Given the description of an element on the screen output the (x, y) to click on. 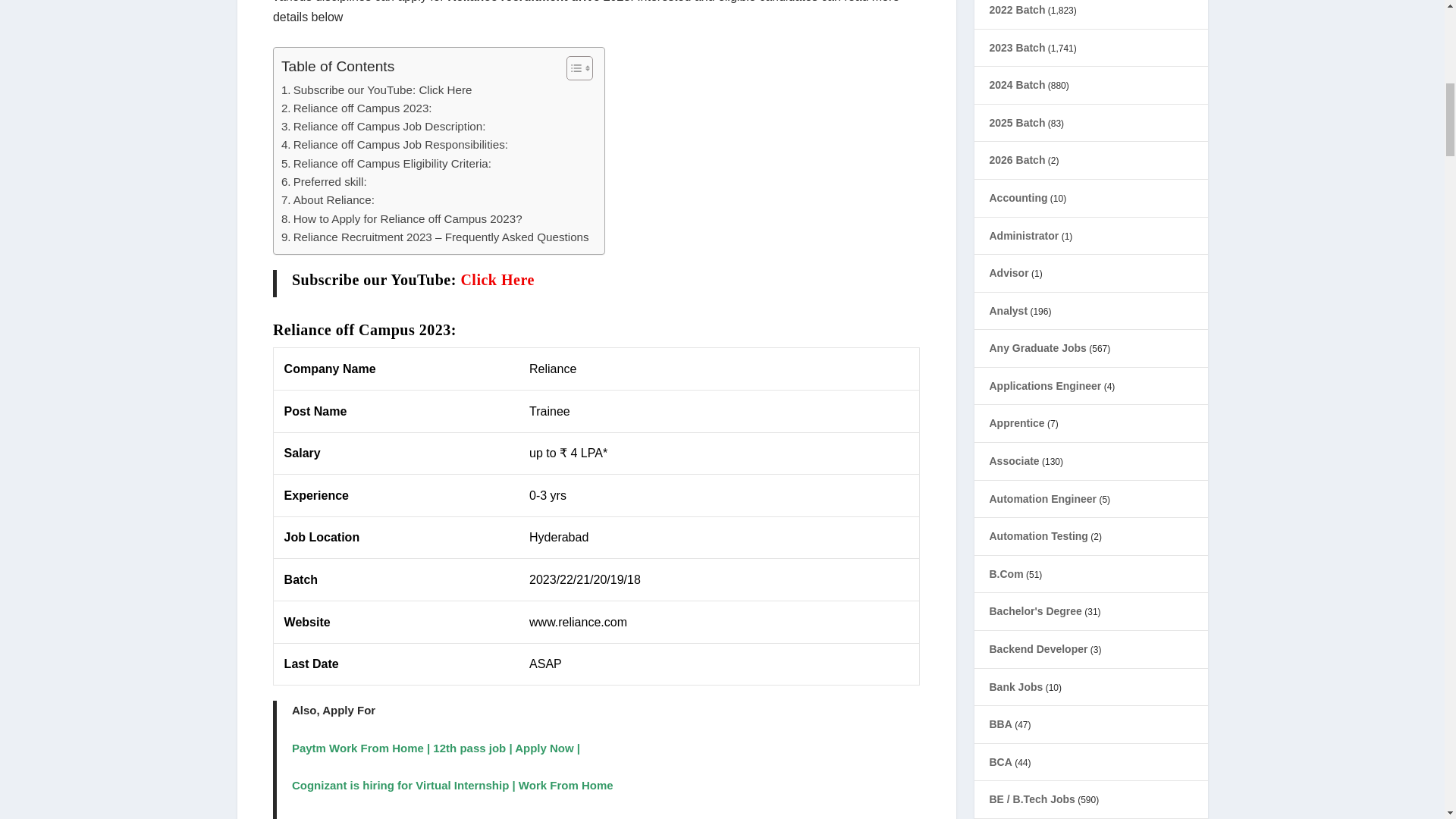
Preferred skill: (323, 181)
About Reliance: (327, 199)
